Given the description of an element on the screen output the (x, y) to click on. 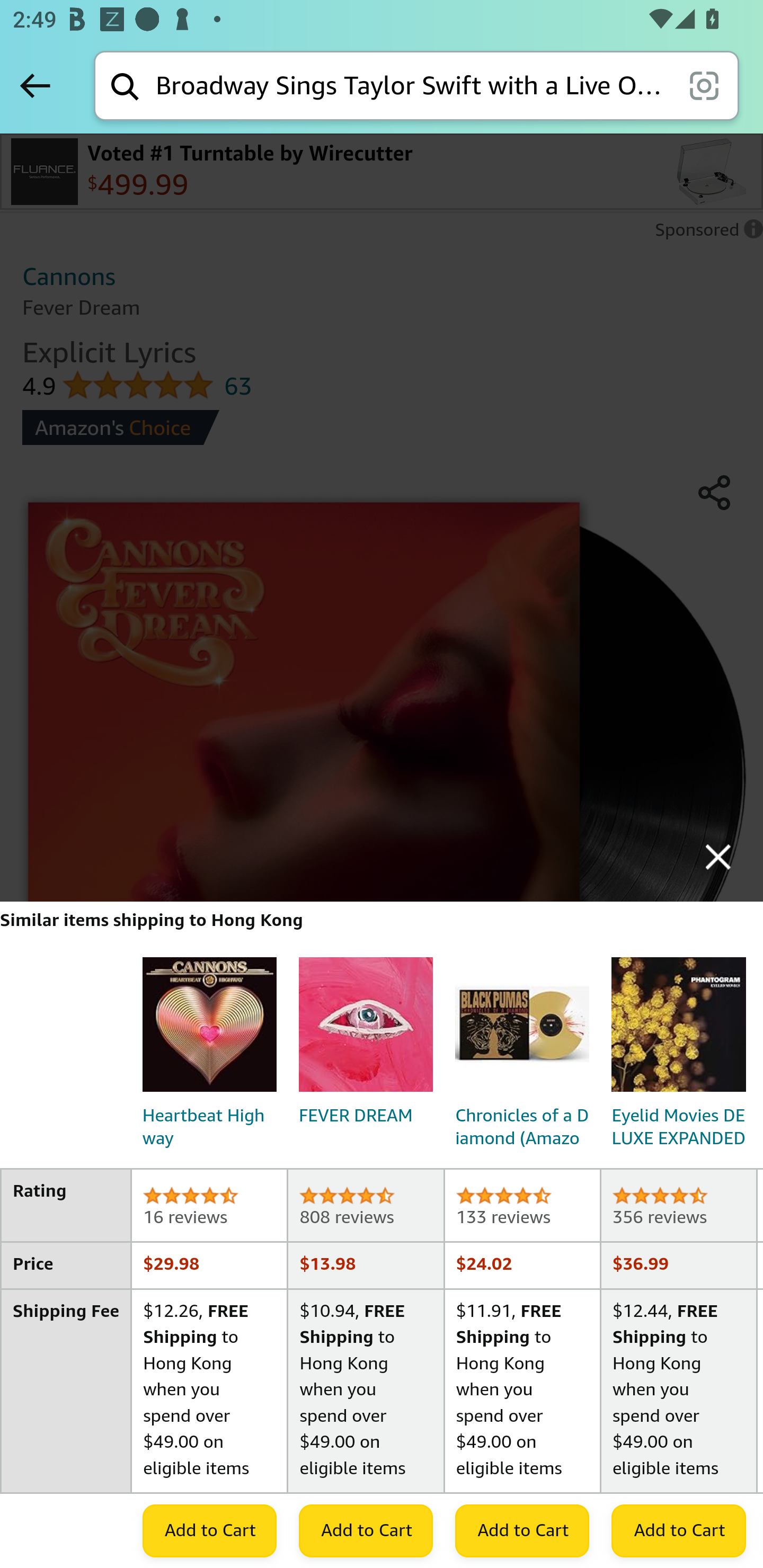
Back (35, 85)
scan it (704, 85)
close (717, 856)
FEVER DREAM FEVER DREAM FEVER DREAM FEVER DREAM (365, 1045)
Add to Cart (208, 1530)
Add to Cart (365, 1530)
Add to Cart (521, 1530)
Add to Cart (678, 1530)
